Given the description of an element on the screen output the (x, y) to click on. 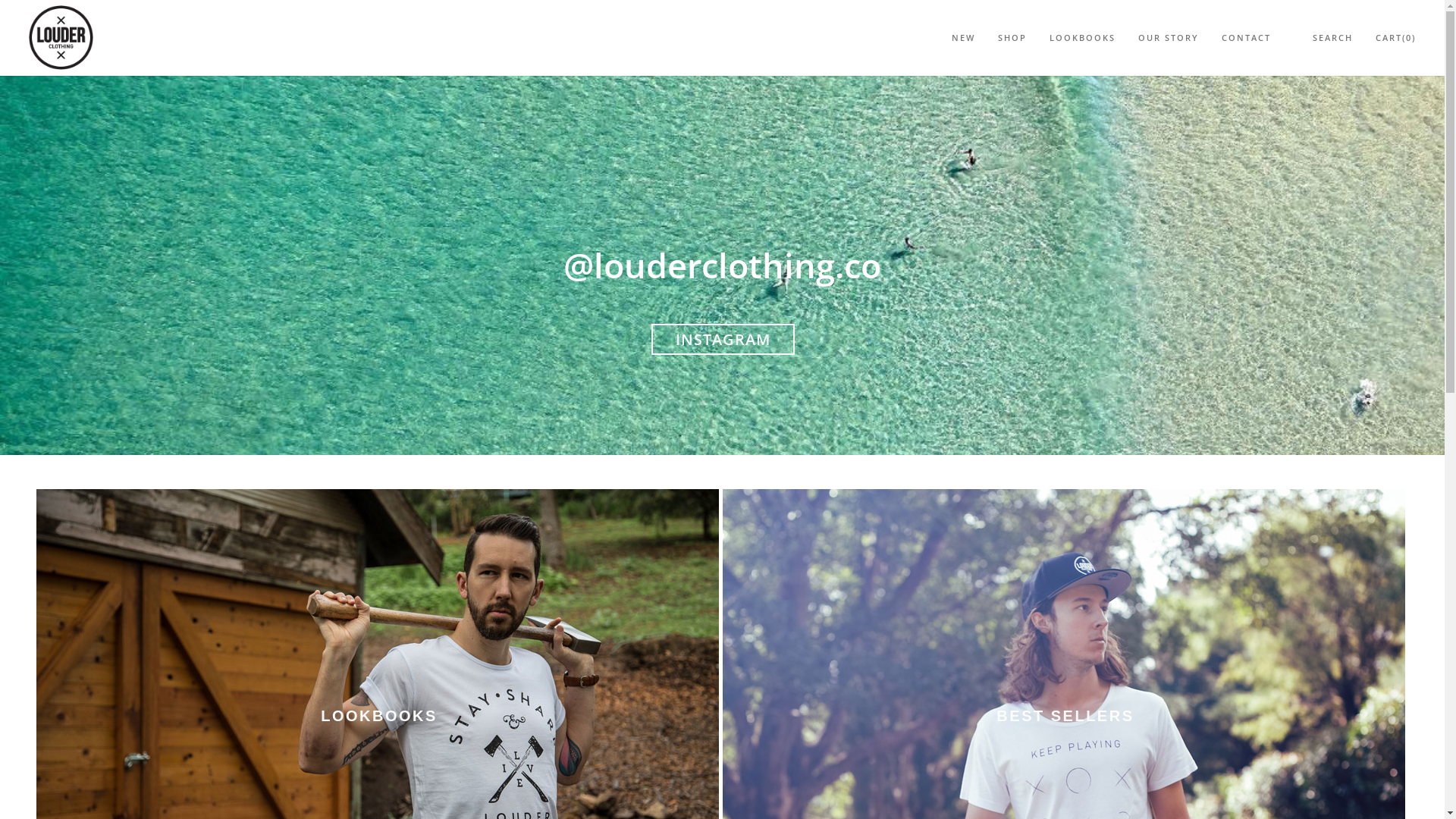
CART(0) Element type: text (1395, 37)
SHOP Element type: text (1011, 37)
NEW Element type: text (963, 37)
SHOP GIRLS Element type: text (740, 286)
LOOKBOOKS Element type: text (1082, 37)
Louder Clothing Element type: hover (60, 34)
CONTACT Element type: text (1245, 37)
OUR STORY Element type: text (1168, 37)
SEARCH Element type: text (1332, 37)
